Given the description of an element on the screen output the (x, y) to click on. 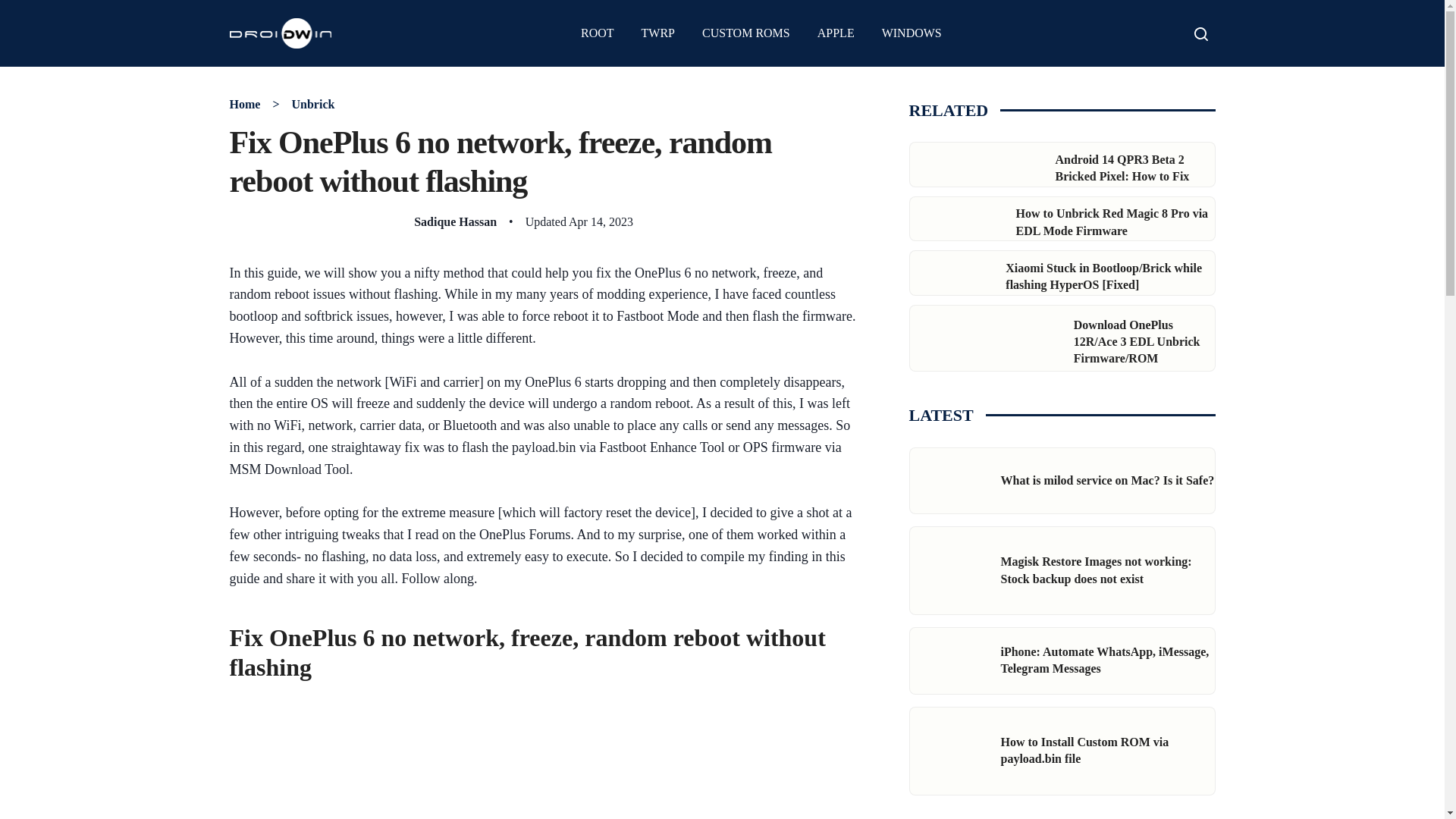
How to Unbrick Red Magic 8 Pro via EDL Mode Firmware (1112, 221)
APPLE (835, 33)
iPhone: Automate WhatsApp, iMessage, Telegram Messages (1105, 659)
CUSTOM ROMS (745, 33)
Droidwin (279, 33)
Android 14 QPR3 Beta 2 Bricked Pixel: How to Fix (1121, 167)
Sadique Hassan (454, 221)
TWRP (658, 33)
WINDOWS (912, 33)
ROOT (597, 33)
Unbrick (312, 103)
Home (244, 103)
What is milod service on Mac? Is it Safe? (1107, 480)
